Given the description of an element on the screen output the (x, y) to click on. 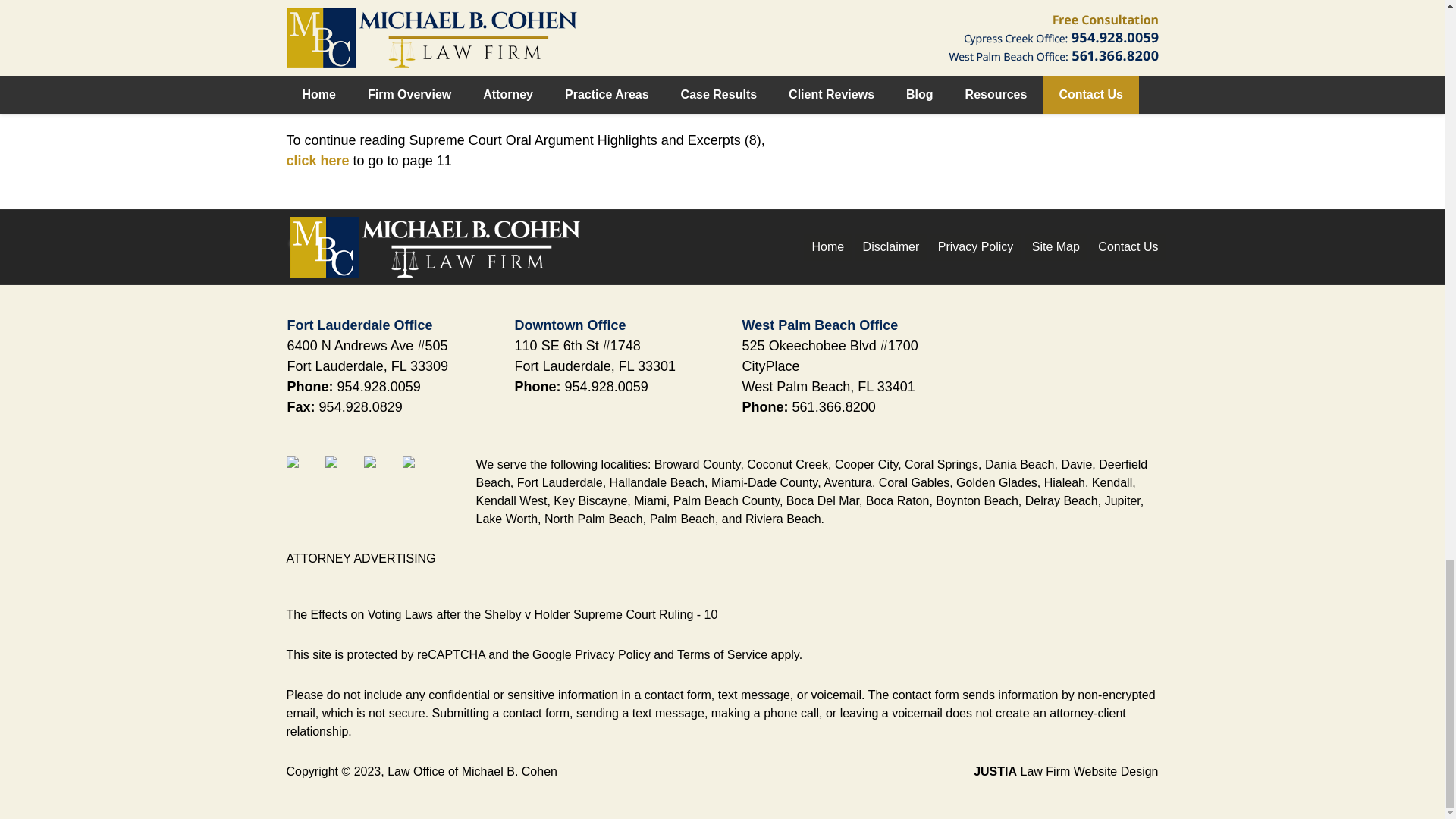
Instagram (420, 472)
Twitter (341, 472)
click here (317, 160)
Facebook (303, 472)
Justia (381, 472)
